Given the description of an element on the screen output the (x, y) to click on. 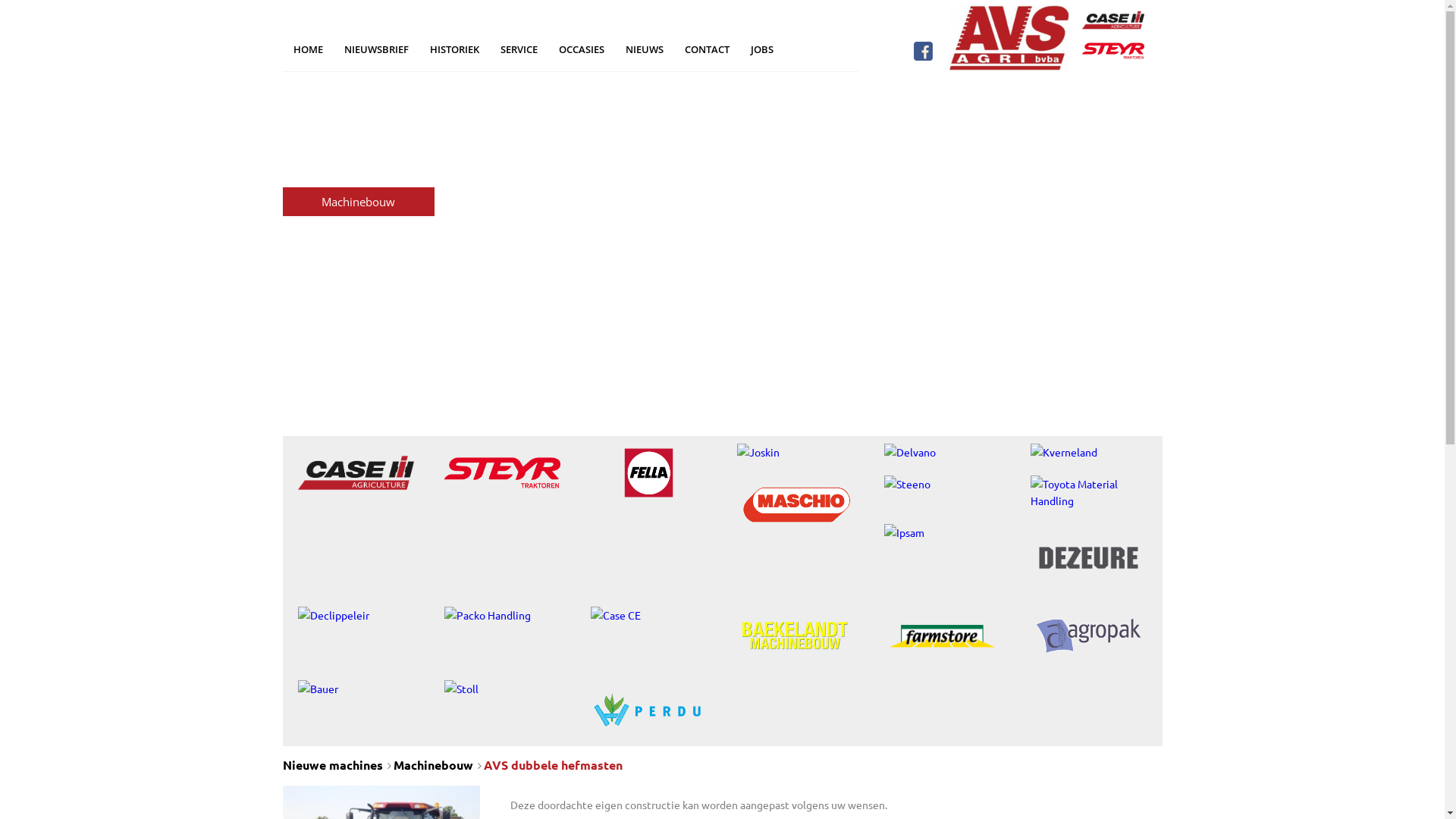
Case CE Element type: hover (648, 614)
Steyr Element type: hover (502, 472)
Perdu Element type: hover (648, 709)
Agropak Element type: hover (1088, 635)
Ipsam Element type: hover (942, 532)
Farmstore Element type: hover (942, 635)
Toyota Material Handling Element type: hover (1088, 491)
NIEUWSBRIEF Element type: text (376, 49)
Stoll Element type: hover (502, 688)
HISTORIEK Element type: text (453, 49)
NIEUWS Element type: text (643, 49)
CONTACT Element type: text (706, 49)
Kverneland Element type: hover (1088, 451)
HOME Element type: text (307, 49)
Joskin Element type: hover (795, 451)
Tractoren Element type: text (357, 114)
Case IH fanshop Element type: text (357, 258)
SERVICE Element type: text (518, 49)
Onderdelen Element type: text (357, 230)
Maschio Element type: hover (795, 504)
Bauer Element type: hover (355, 688)
CaseIH Element type: hover (355, 472)
Steyr Element type: hover (1112, 50)
Delvano Element type: hover (942, 451)
AVS dubbele hefmasten Element type: text (552, 764)
Grondverzet Element type: text (357, 143)
Baekelandt Element type: hover (795, 635)
Steeno Element type: hover (942, 483)
Nieuwe machines Element type: text (332, 764)
Machinebouw Element type: text (432, 764)
Packo Handling Element type: hover (502, 614)
Precisielandbouw Element type: text (357, 172)
Verreikers Element type: text (357, 86)
Declippeleir Element type: hover (355, 614)
CaseIH Element type: hover (1112, 19)
OCCASIES Element type: text (580, 49)
Dezeure Element type: hover (1088, 557)
JOBS Element type: text (762, 49)
Steyr fanshop Element type: text (357, 287)
Machinebouw Element type: text (357, 201)
Jobs Element type: text (357, 316)
Fella Element type: hover (648, 472)
